Given the description of an element on the screen output the (x, y) to click on. 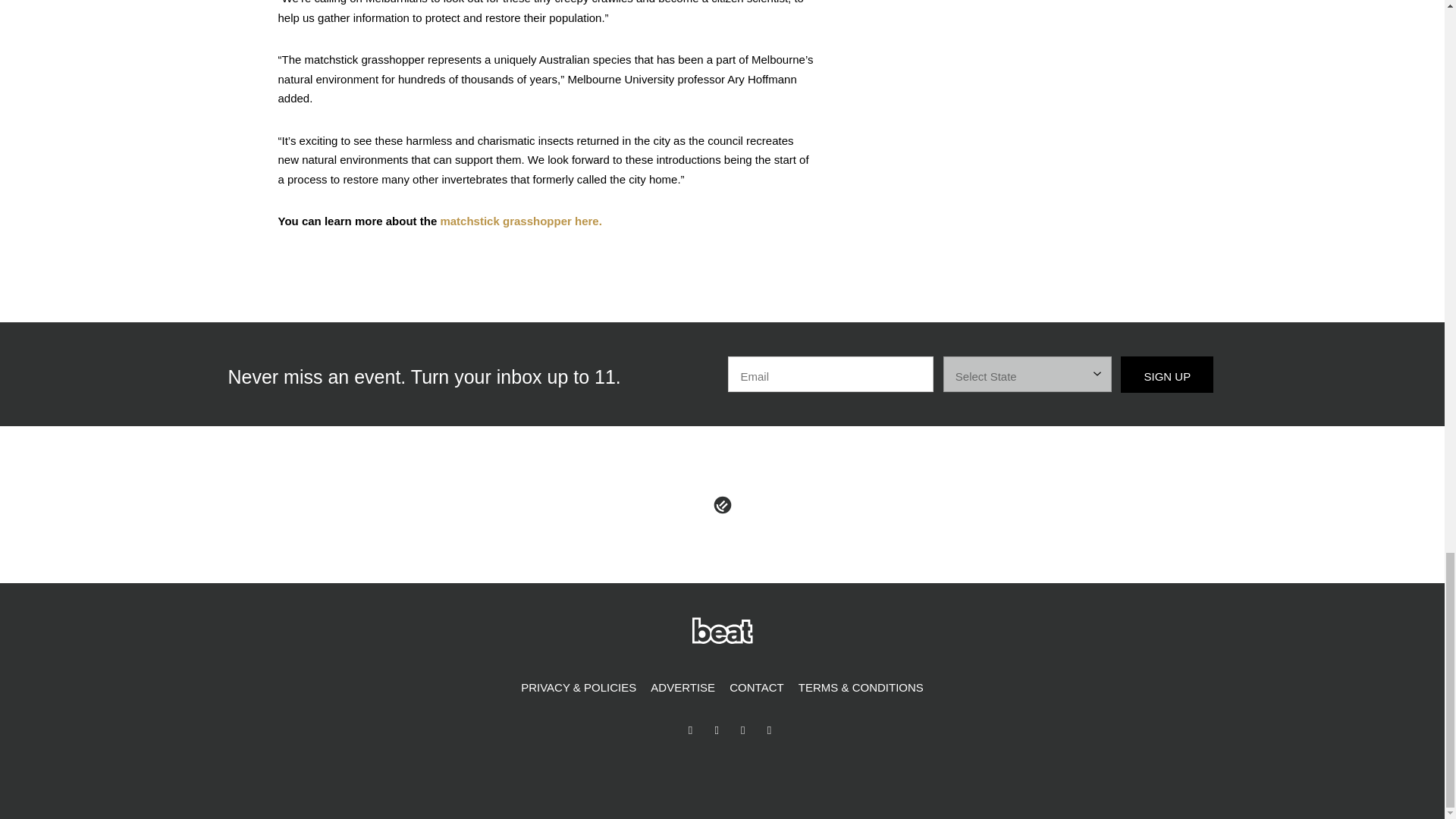
ADVERTISE (682, 687)
3rd party ad content (1052, 9)
CONTACT (756, 687)
SIGN UP (1166, 374)
matchstick grasshopper here. (520, 220)
